Given the description of an element on the screen output the (x, y) to click on. 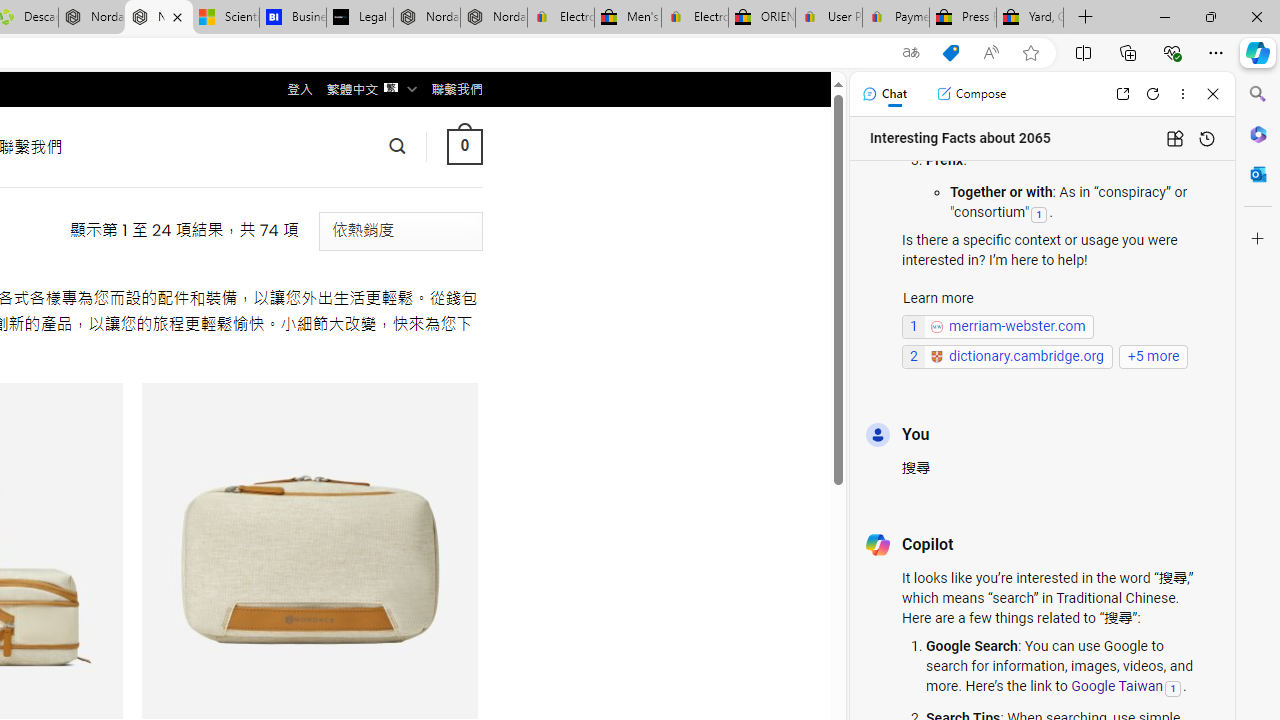
More options (1182, 93)
Customize (1258, 239)
This site has coupons! Shopping in Microsoft Edge (950, 53)
Press Room - eBay Inc. (962, 17)
